Given the description of an element on the screen output the (x, y) to click on. 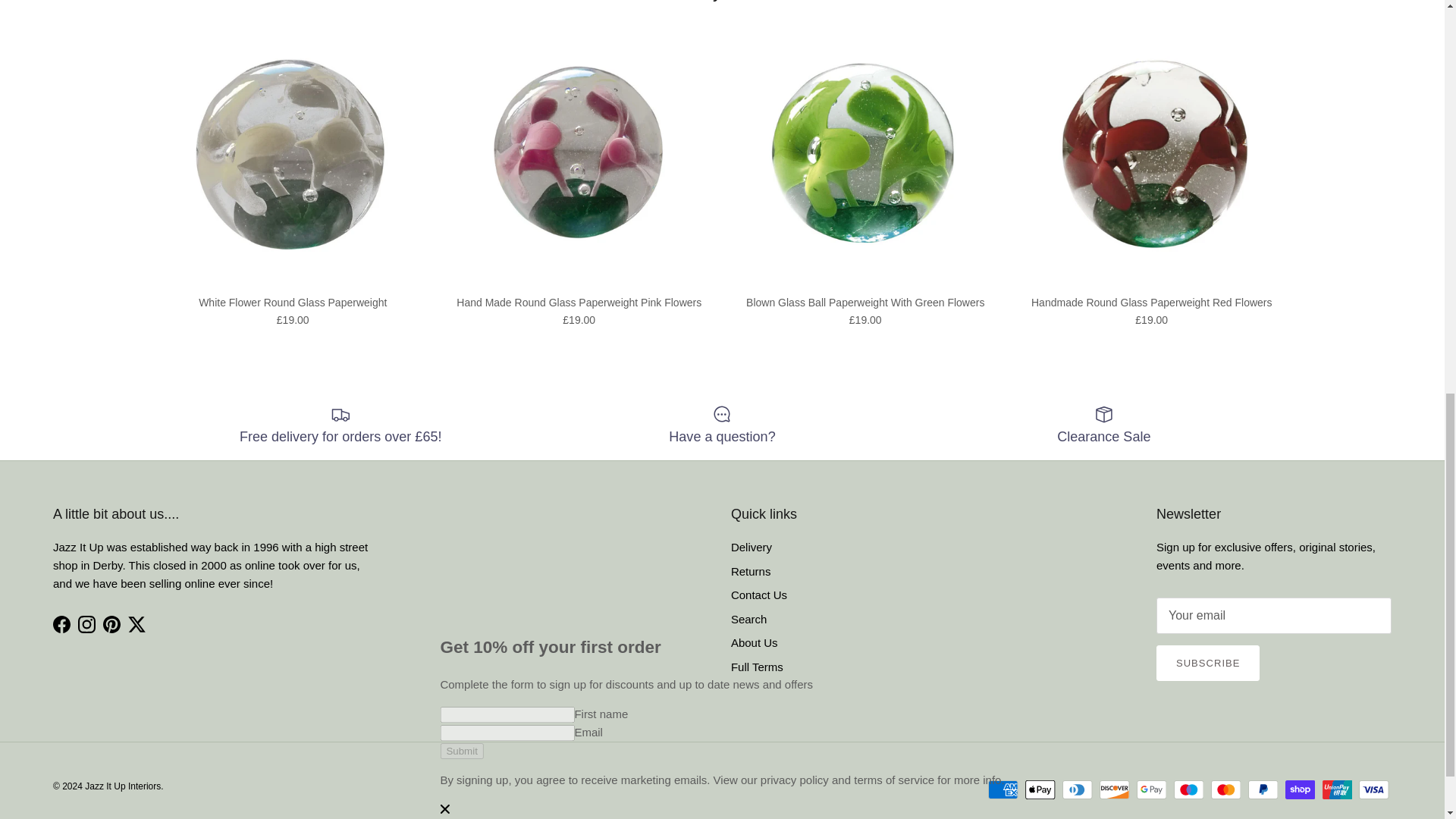
Jazz It Up Interiors on Facebook (60, 624)
American Express (1002, 789)
Jazz It Up Interiors on Pinterest (111, 624)
Jazz It Up Interiors on Twitter (136, 624)
Apple Pay (1040, 789)
Jazz It Up Interiors on Instagram (87, 624)
